Given the description of an element on the screen output the (x, y) to click on. 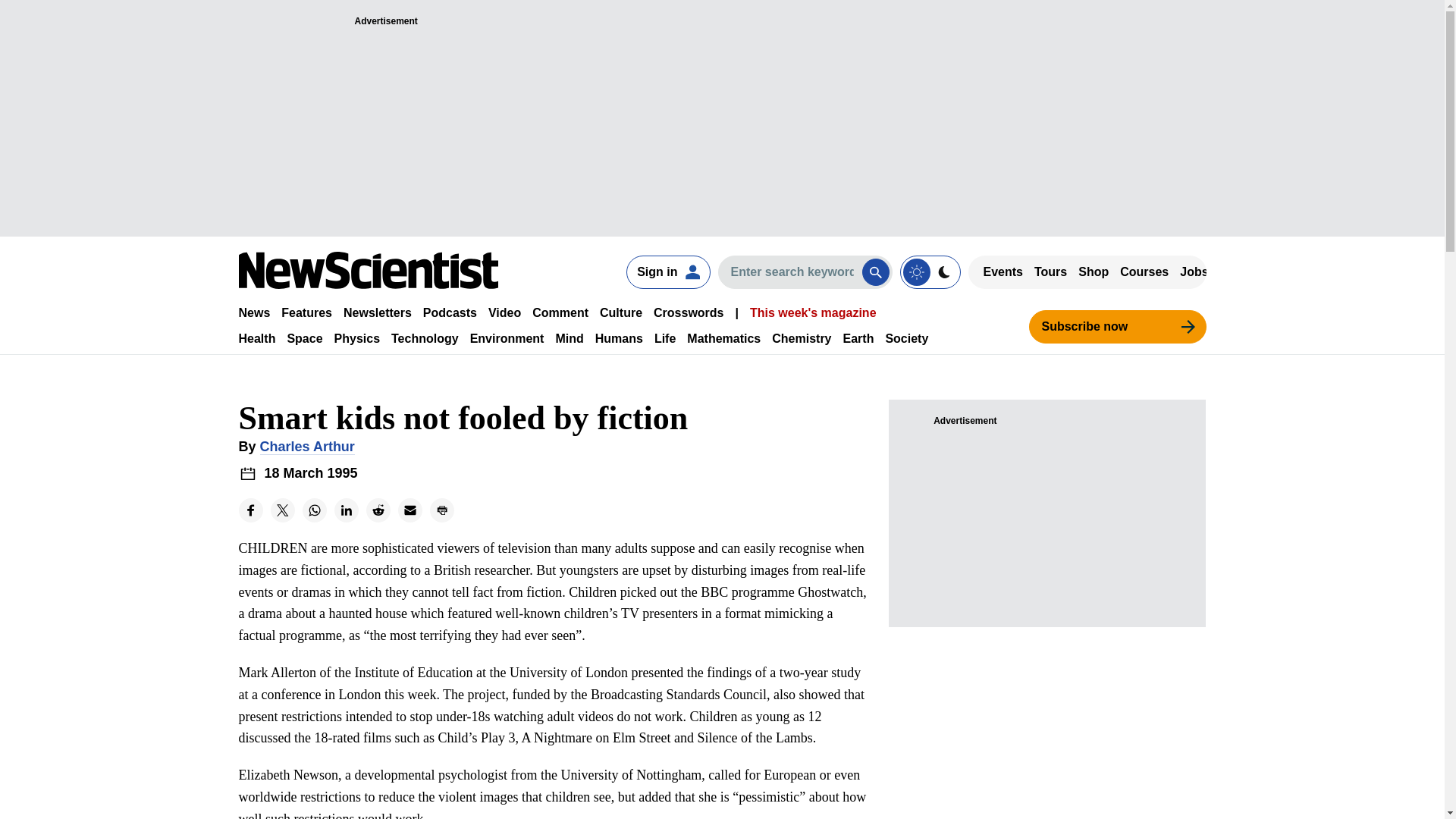
Humans (619, 338)
Health (256, 338)
Features (306, 313)
Mathematics (723, 338)
Culture (620, 313)
Society (906, 338)
Events (1002, 272)
Technology (424, 338)
on (929, 272)
This week's magazine (812, 313)
Mind (568, 338)
Life (664, 338)
Podcasts (450, 313)
Shop (1093, 272)
Physics (357, 338)
